Given the description of an element on the screen output the (x, y) to click on. 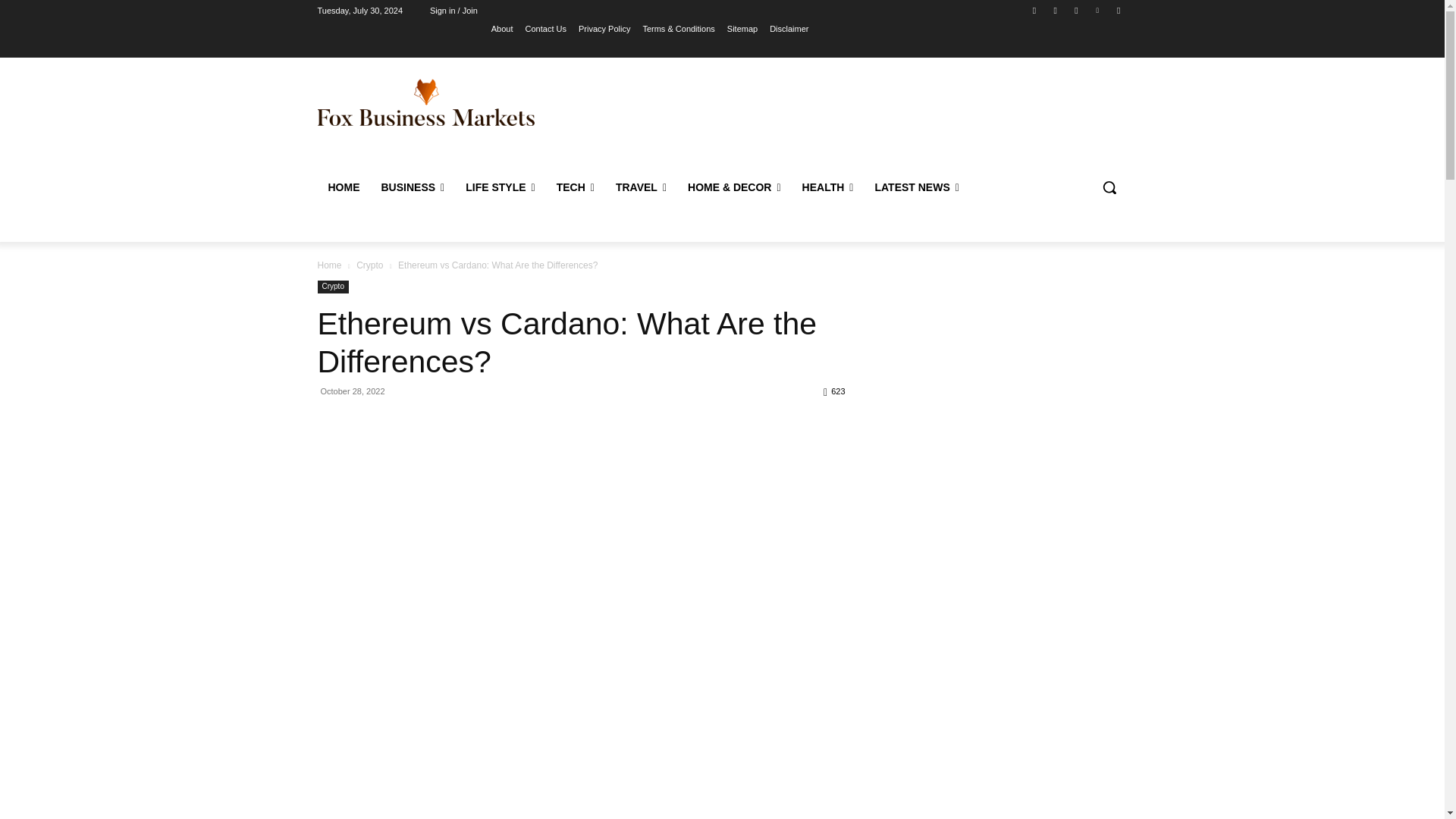
Contact Us (545, 28)
View all posts in Crypto (369, 265)
Youtube (1117, 9)
Facebook (1034, 9)
About (502, 28)
Privacy Policy (604, 28)
Disclaimer (789, 28)
Twitter (1075, 9)
Sitemap (741, 28)
Vimeo (1097, 9)
Instagram (1055, 9)
